Given the description of an element on the screen output the (x, y) to click on. 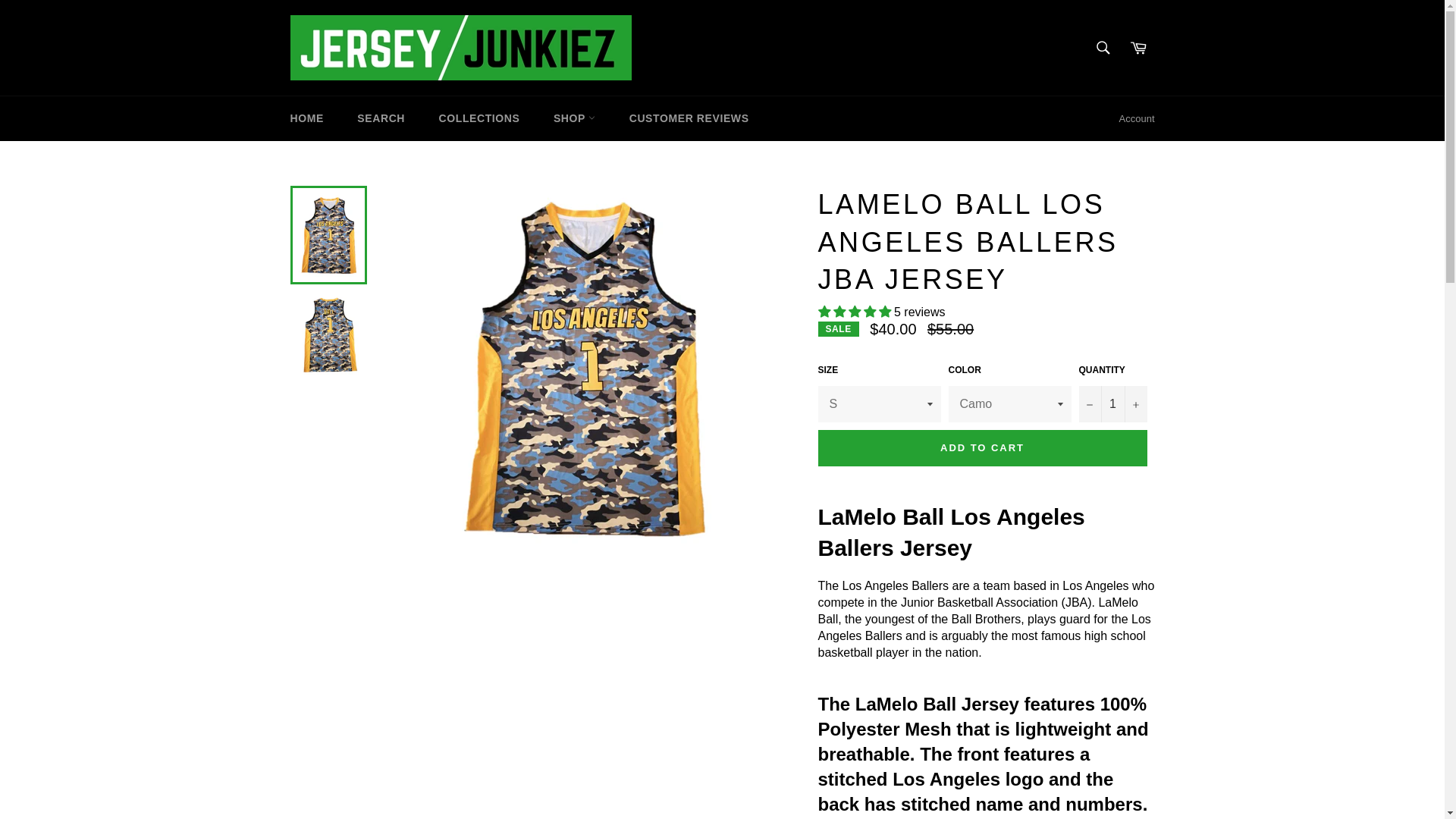
Cart (1138, 47)
HOME (306, 118)
CUSTOMER REVIEWS (689, 118)
1 (1112, 403)
SEARCH (381, 118)
COLLECTIONS (479, 118)
SHOP (574, 118)
Search (1103, 47)
